Given the description of an element on the screen output the (x, y) to click on. 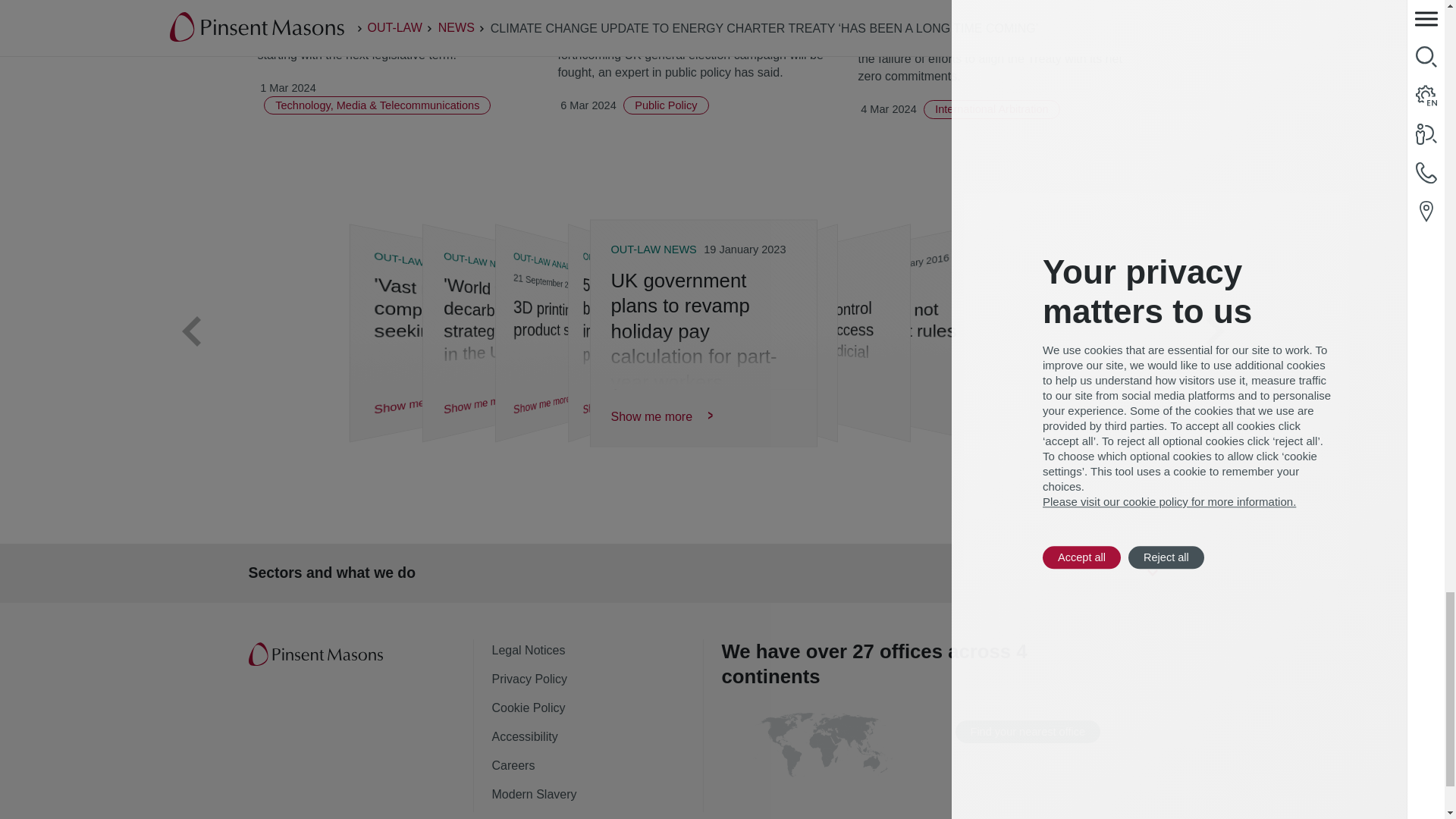
Pinsent Masons (316, 654)
